Given the description of an element on the screen output the (x, y) to click on. 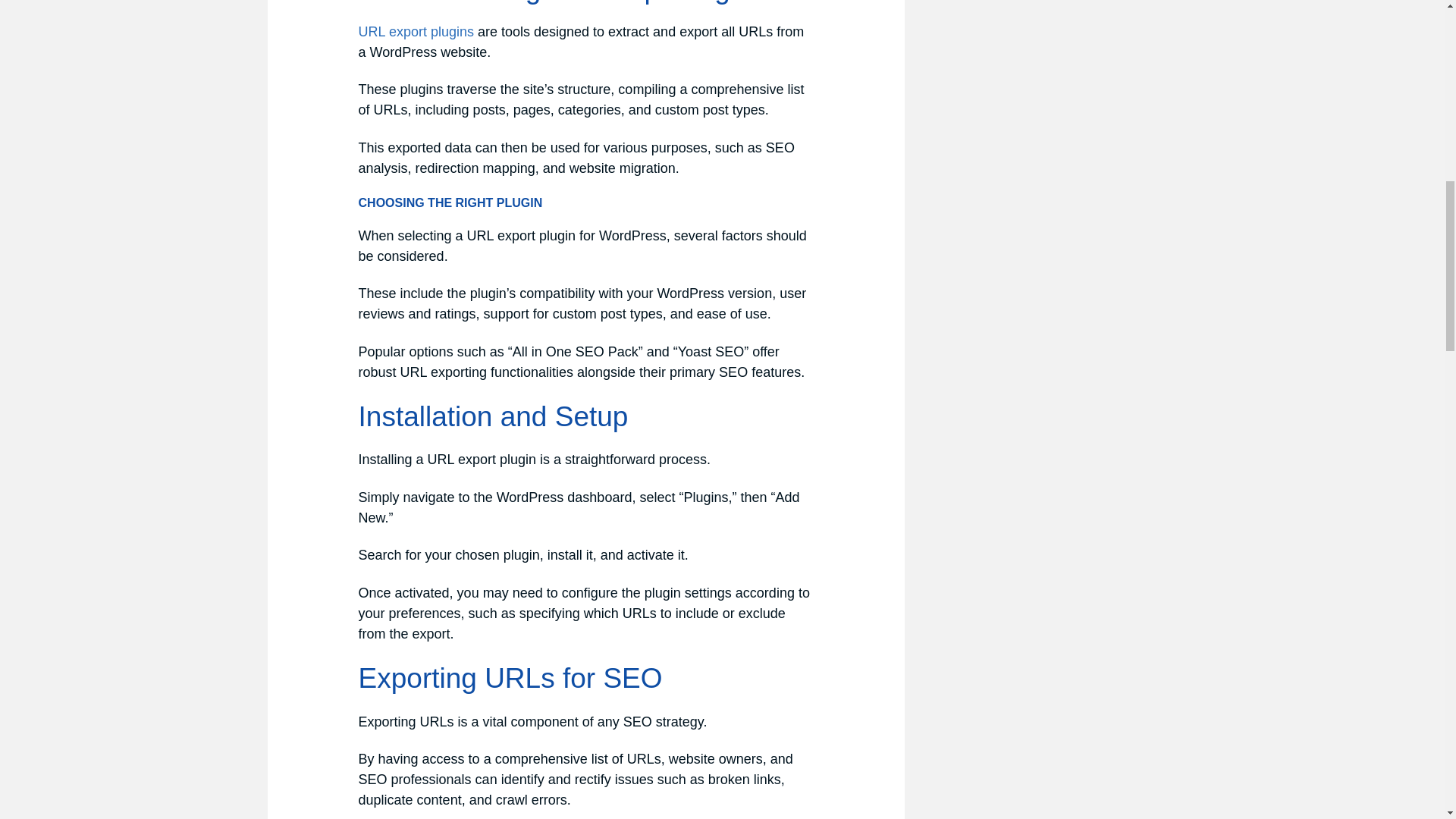
URL export plugins (416, 31)
